Given the description of an element on the screen output the (x, y) to click on. 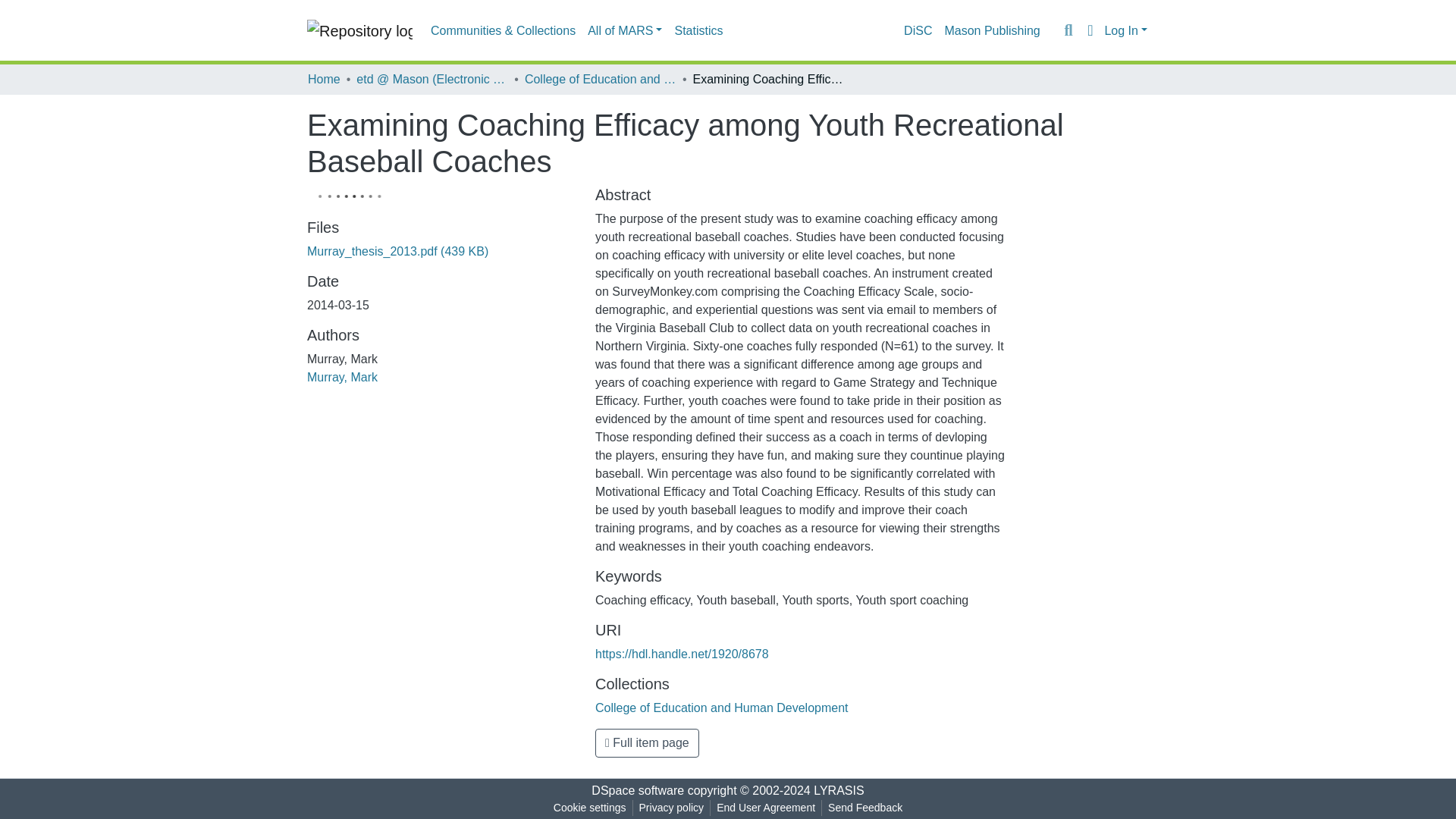
Murray, Mark (342, 377)
Full item page (646, 742)
Cookie settings (589, 807)
Language switch (1089, 30)
Mason Publishing (991, 30)
DiSC (917, 30)
LYRASIS (838, 789)
End User Agreement (765, 807)
Search (1067, 30)
Send Feedback (865, 807)
Log In (1125, 30)
College of Education and Human Development (600, 79)
All of MARS (624, 30)
College of Education and Human Development (721, 707)
Statistics (698, 30)
